Given the description of an element on the screen output the (x, y) to click on. 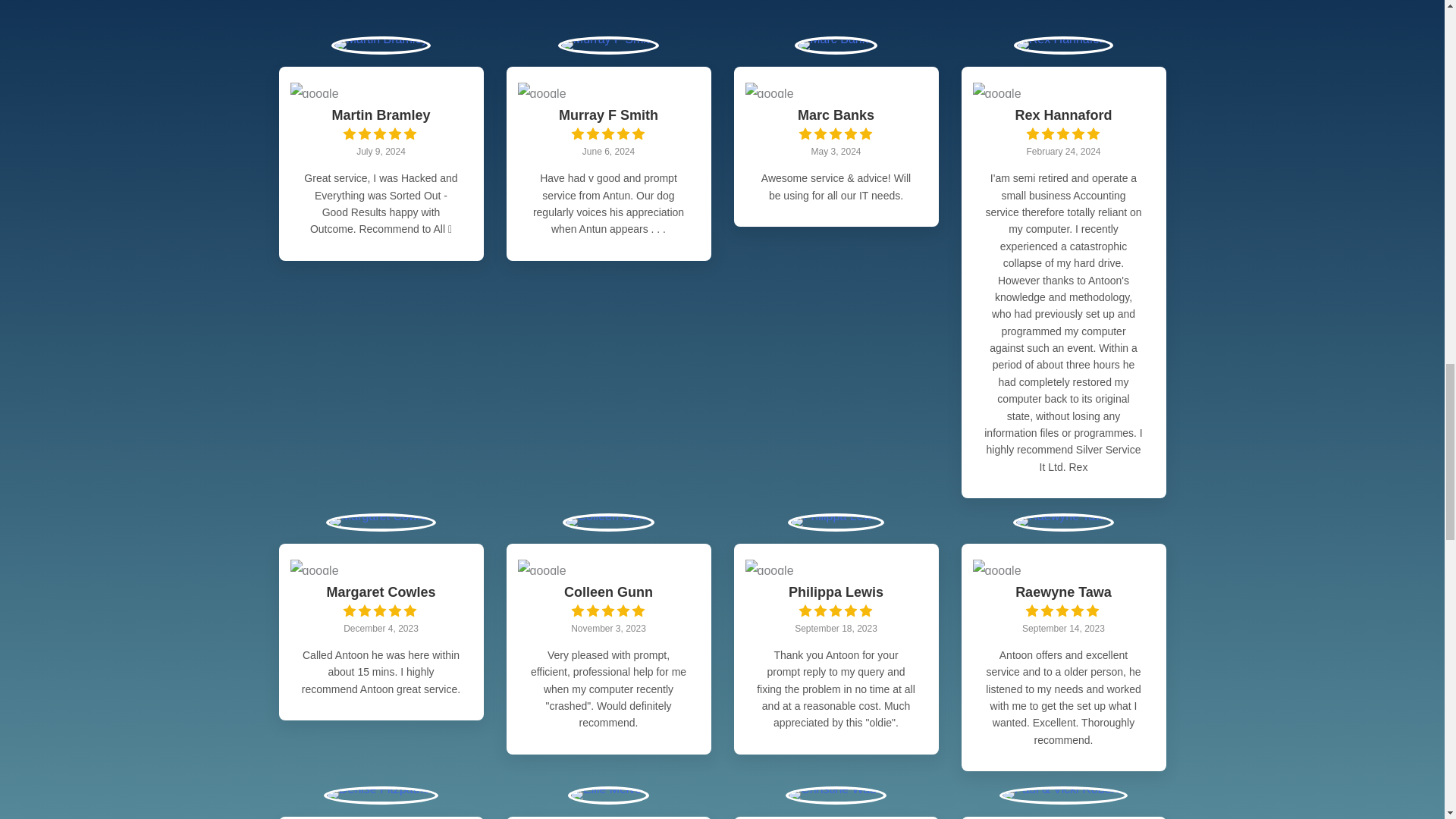
Margaret Cowles (380, 592)
Martin Bramley (380, 115)
Marc Banks (836, 115)
Rex Hannaford (1063, 115)
Murray F Smith (608, 115)
